Given the description of an element on the screen output the (x, y) to click on. 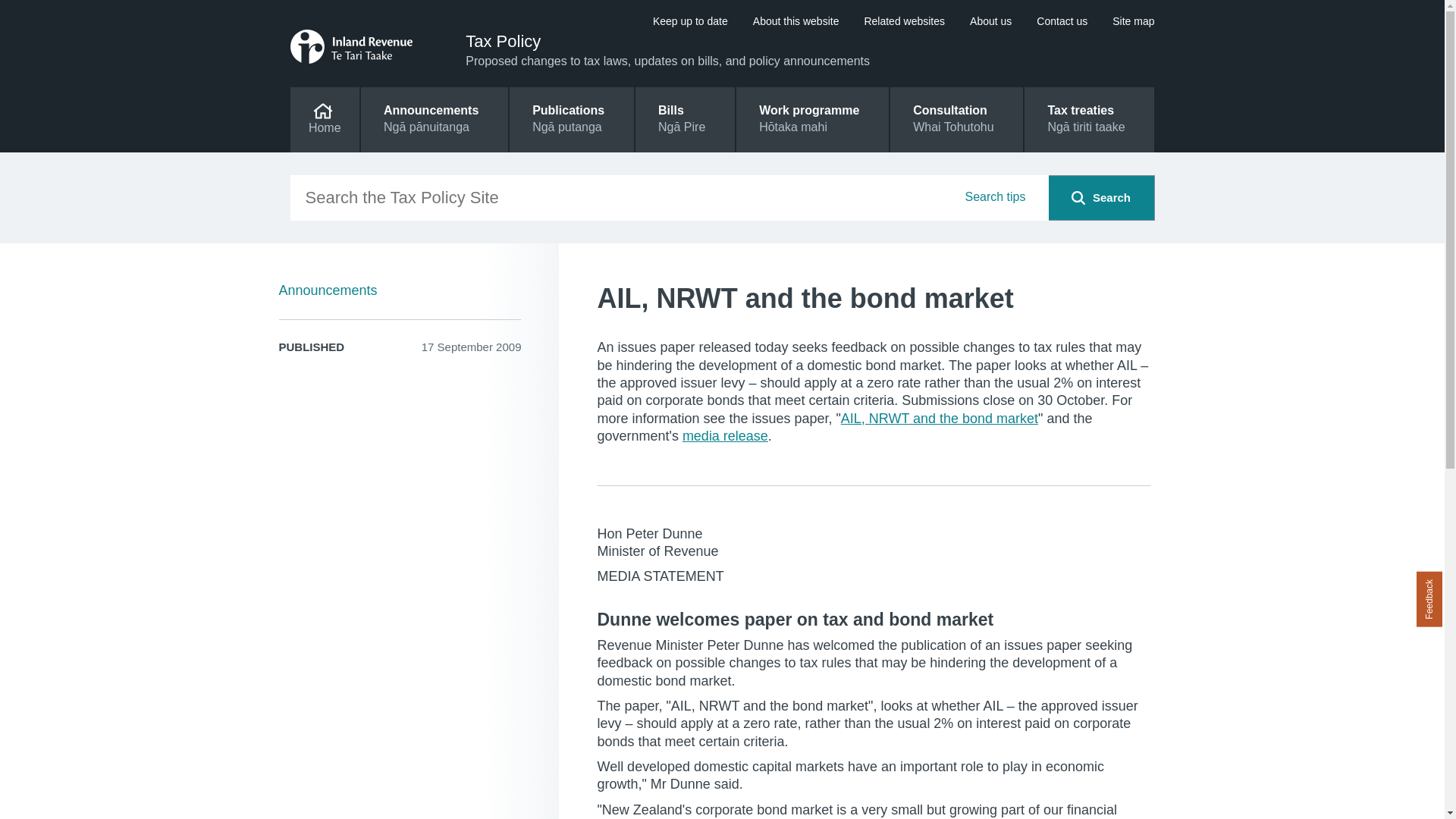
Site map (956, 119)
Keep up to date (1133, 21)
Contact us (690, 21)
Insert a query. Press enter to send (1061, 21)
AIL, NRWT and the bond market (668, 197)
Search tips (939, 418)
Related websites (994, 215)
About us (903, 21)
About us (990, 21)
Related websites (990, 21)
Site map (903, 21)
Tax Policy (1133, 21)
Search (502, 40)
About this website (1077, 197)
